Given the description of an element on the screen output the (x, y) to click on. 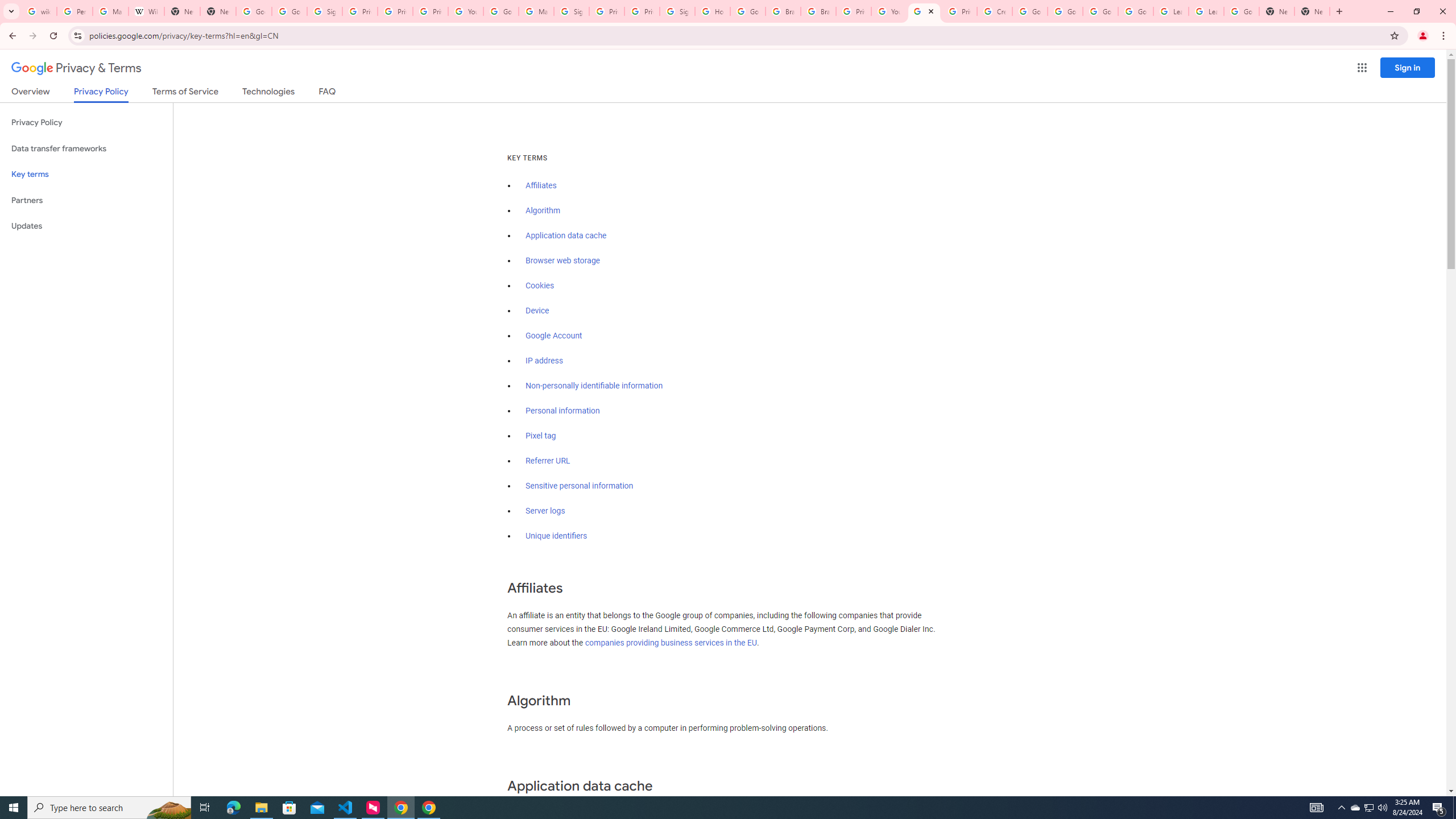
Sign in - Google Accounts (677, 11)
Brand Resource Center (783, 11)
Sensitive personal information (579, 486)
